Given the description of an element on the screen output the (x, y) to click on. 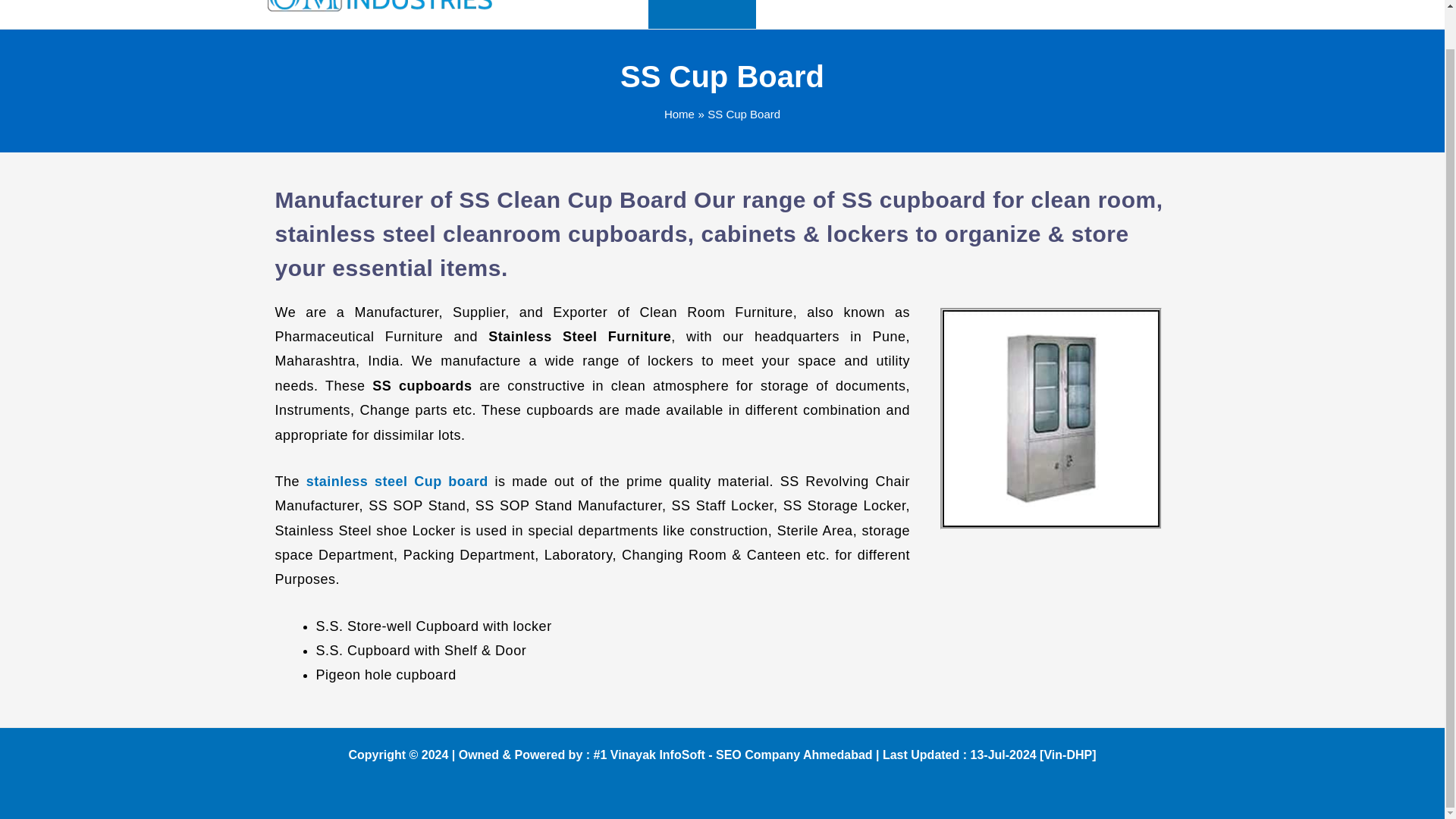
Market (1007, 14)
Enquiry (1066, 14)
About Us (612, 14)
S.S Furniture (701, 14)
SS Conveyor Table (818, 14)
Contact Us (1136, 14)
Home (552, 14)
SS Turn Table (931, 14)
